Given the description of an element on the screen output the (x, y) to click on. 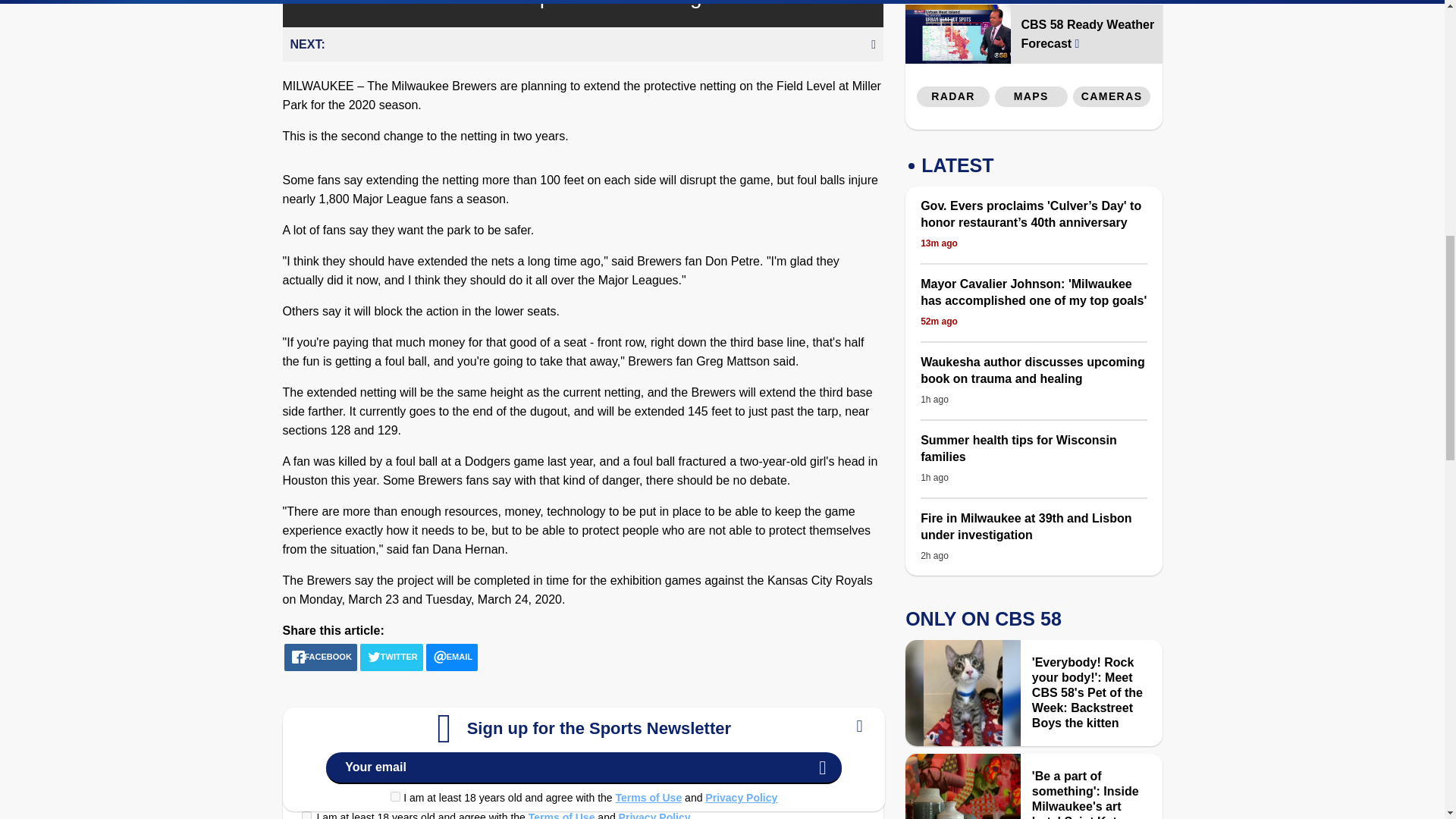
on (306, 815)
